Given the description of an element on the screen output the (x, y) to click on. 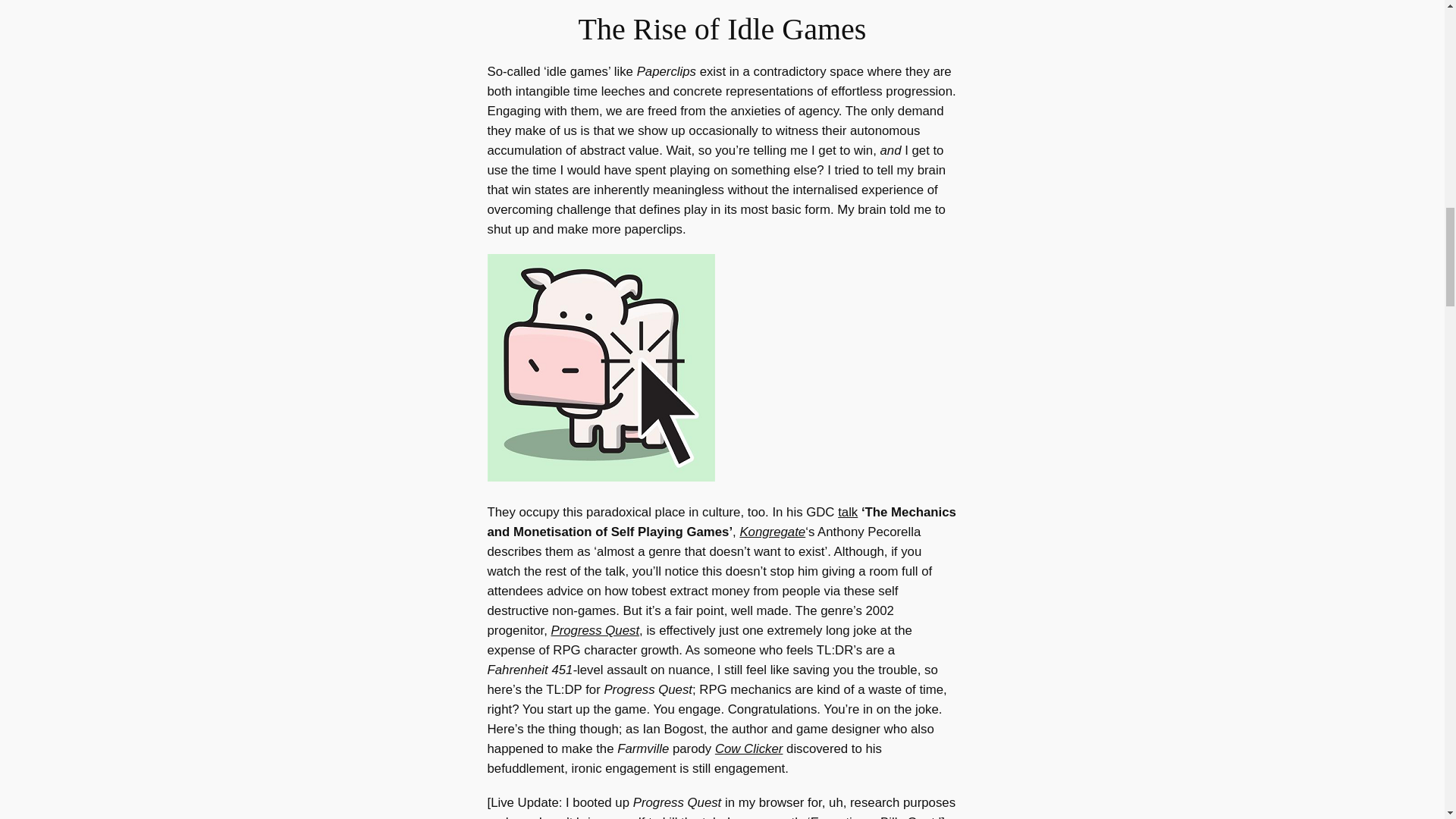
Progress Quest (594, 630)
Cow Clicker (748, 748)
Kongregate (772, 531)
talk (847, 512)
